Given the description of an element on the screen output the (x, y) to click on. 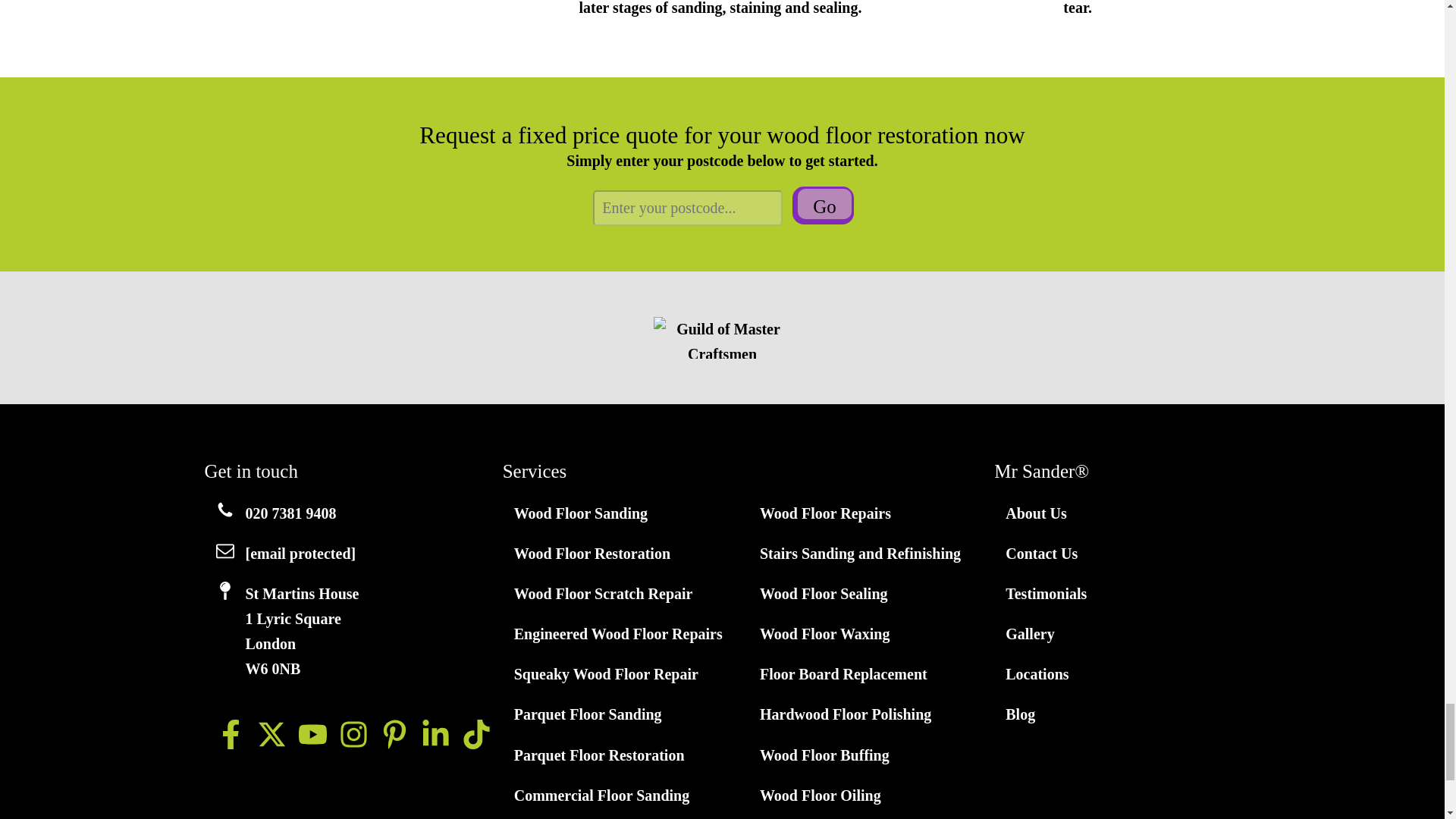
Postcode (687, 208)
Go (824, 204)
